Given the description of an element on the screen output the (x, y) to click on. 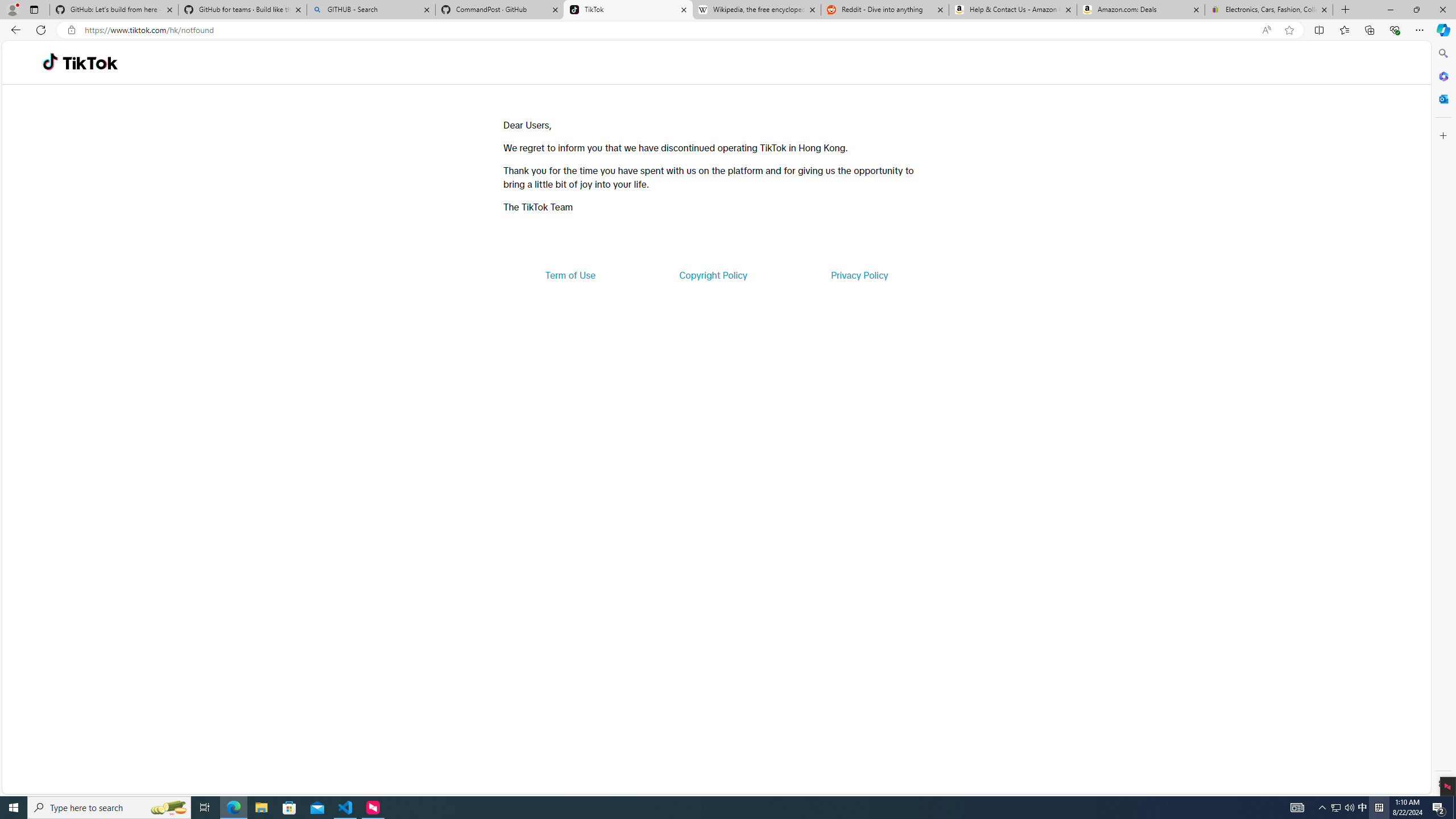
Help & Contact Us - Amazon Customer Service (1012, 9)
App bar (728, 29)
TikTok (89, 62)
Address and search bar (669, 29)
Electronics, Cars, Fashion, Collectibles & More | eBay (1268, 9)
Microsoft 365 (1442, 76)
Privacy Policy (858, 274)
Amazon.com: Deals (1140, 9)
